Given the description of an element on the screen output the (x, y) to click on. 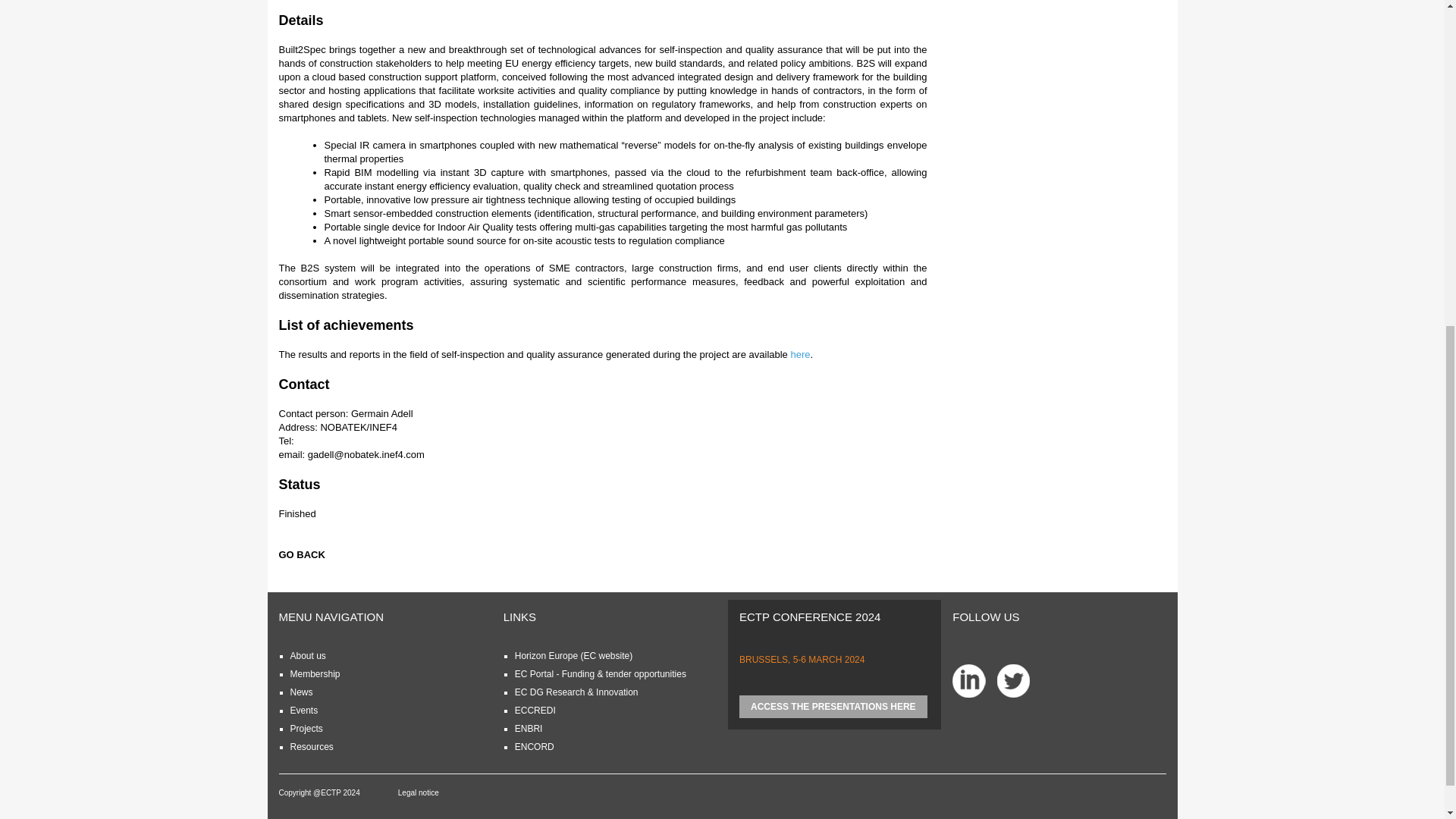
Opens external link in new window (799, 354)
Opens internal link in current window (306, 655)
Opens internal link in current window (301, 692)
Opens internal link in current window (314, 674)
Opens internal link in current window (303, 710)
